Given the description of an element on the screen output the (x, y) to click on. 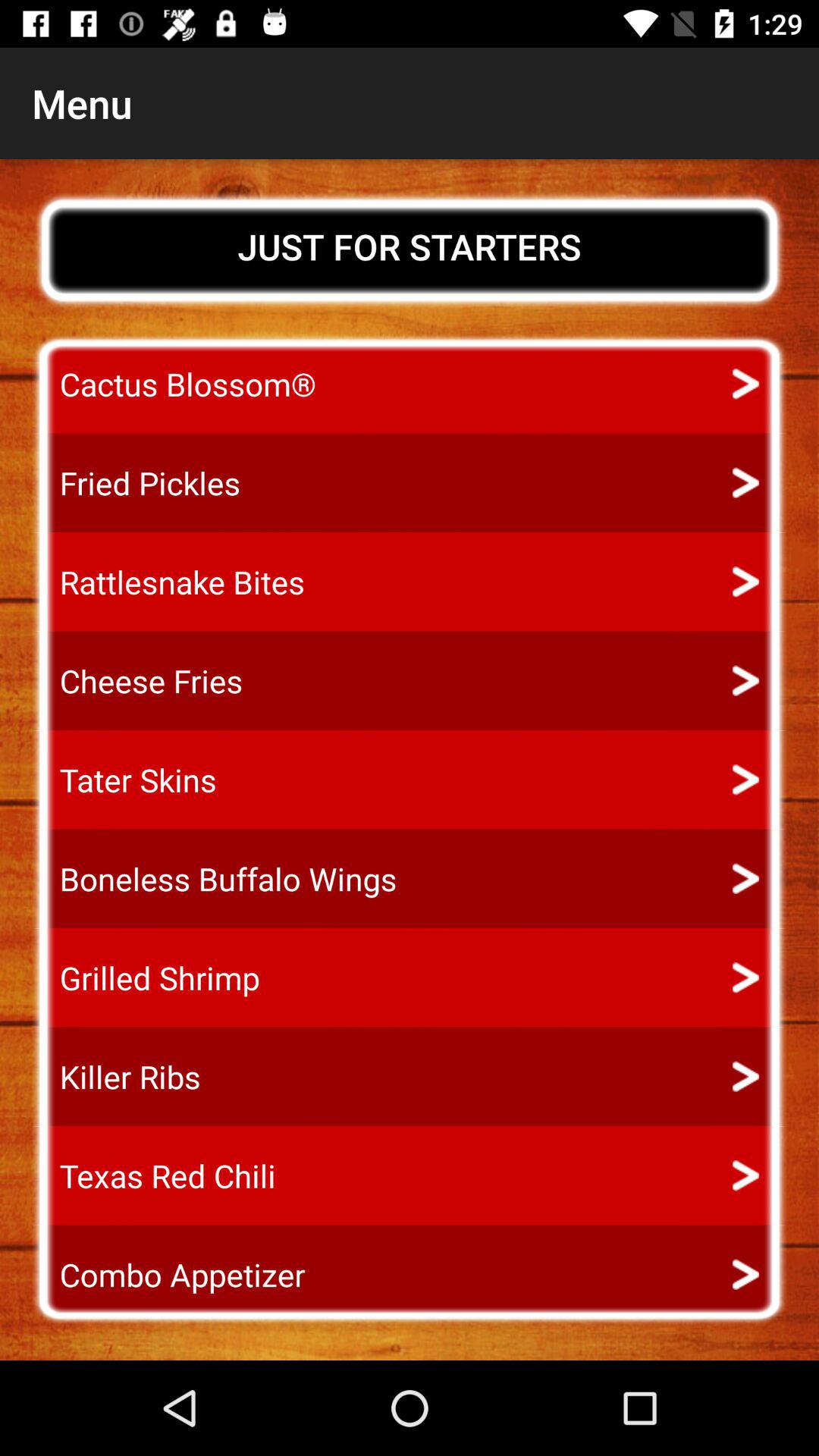
press app below menu icon (409, 246)
